Given the description of an element on the screen output the (x, y) to click on. 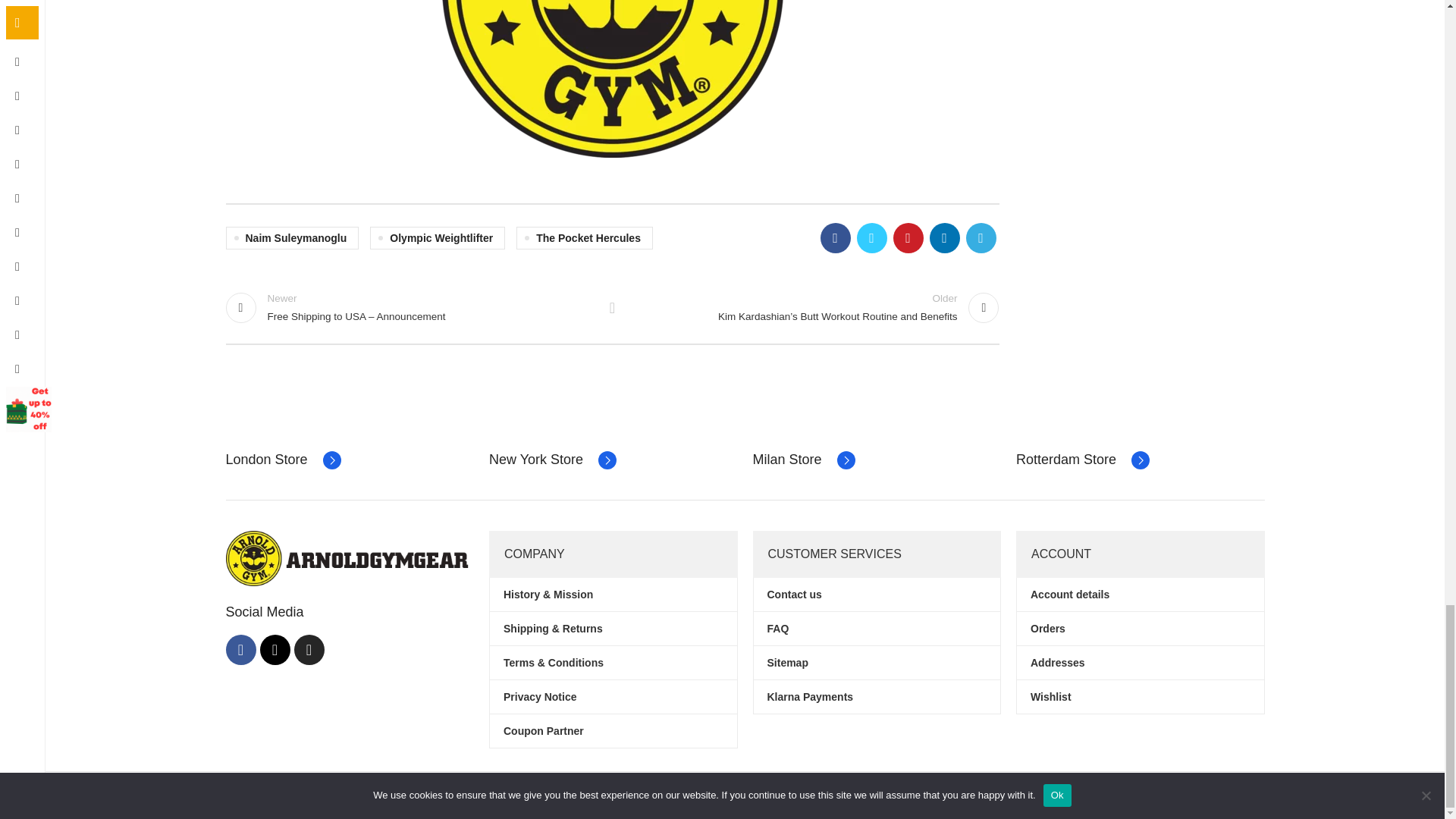
Olympic Weightlifter (437, 237)
cropped cropped Arnold logo R Colour 1 (612, 79)
The Pocket Hercules (584, 237)
Naim Suleymanoglu (292, 237)
